Given the description of an element on the screen output the (x, y) to click on. 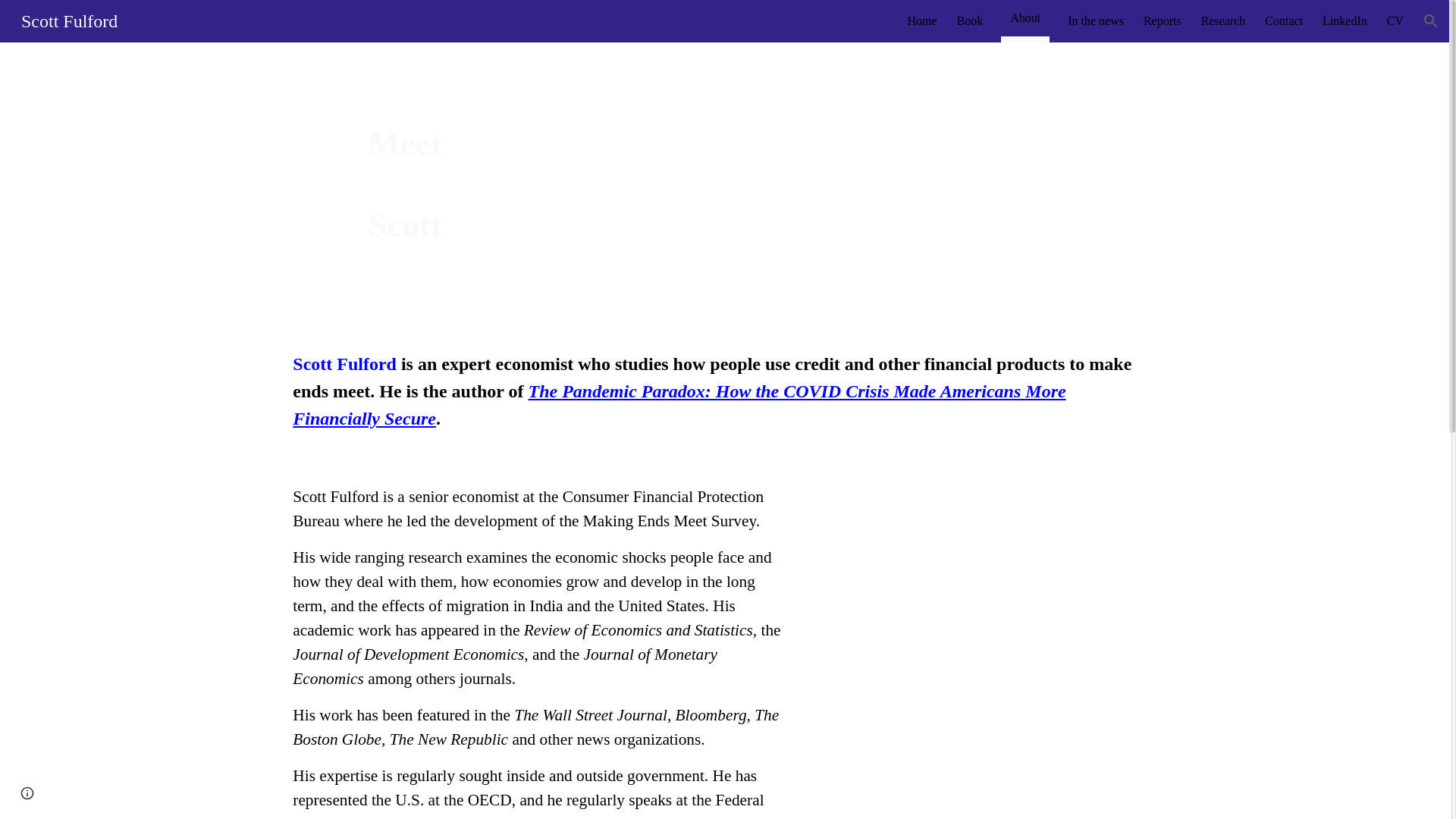
Scott Fulford (68, 19)
In the news (1095, 20)
LinkedIn (1344, 20)
Contact (1284, 20)
Reports (1161, 20)
Book (969, 20)
CV (1395, 20)
About (1025, 17)
Research (1223, 20)
Home (921, 20)
